Given the description of an element on the screen output the (x, y) to click on. 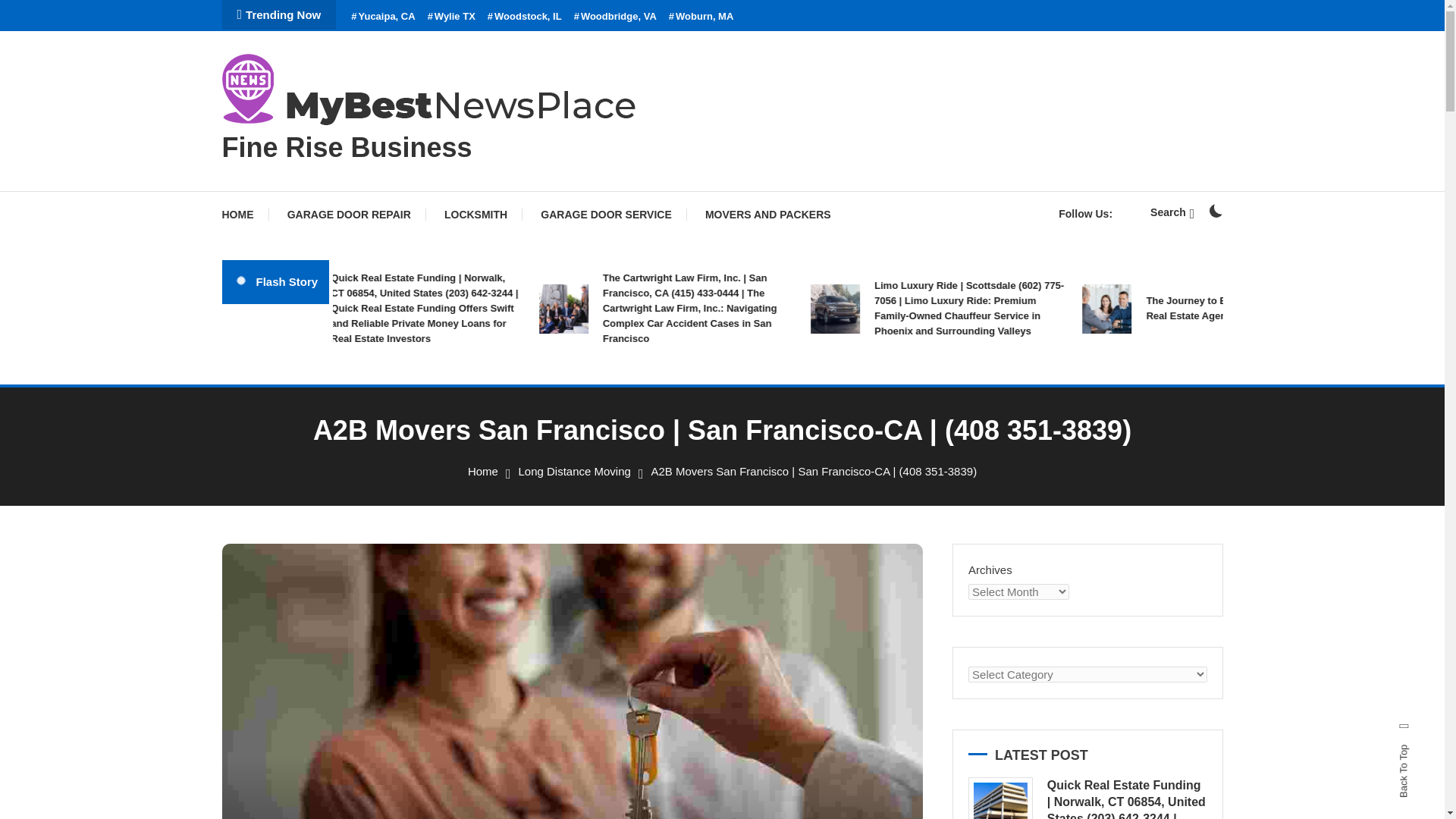
GARAGE DOOR SERVICE (605, 214)
Home (482, 471)
LOCKSMITH (475, 214)
Woodbridge, VA (614, 16)
Woburn, MA (700, 16)
Long Distance Moving (574, 471)
Woodstock, IL (524, 16)
The Journey to Becoming a Successful Real Estate Agent (1305, 308)
Search (768, 434)
HOME (244, 214)
